Given the description of an element on the screen output the (x, y) to click on. 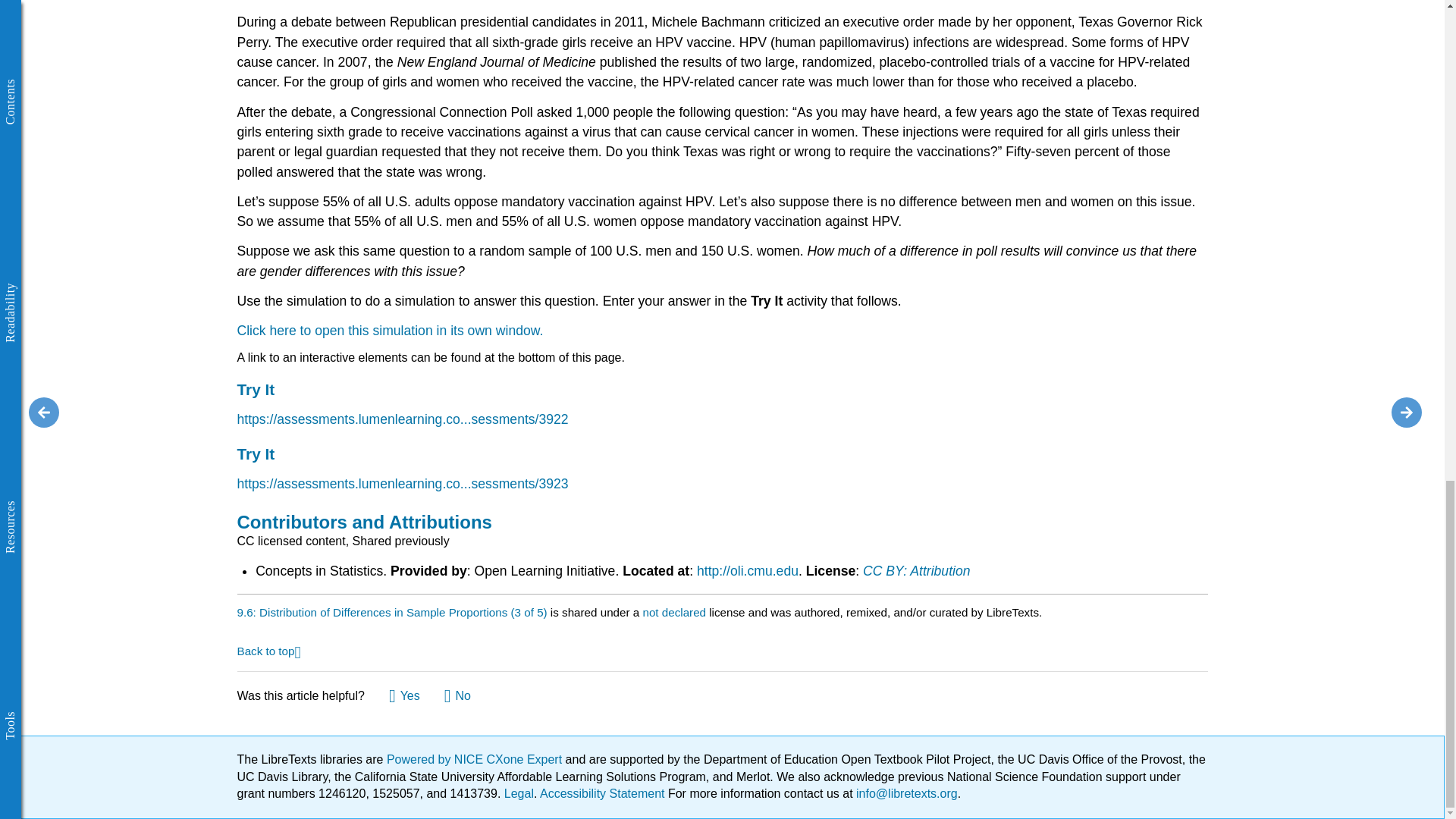
Jump back to top of this article (267, 650)
